Given the description of an element on the screen output the (x, y) to click on. 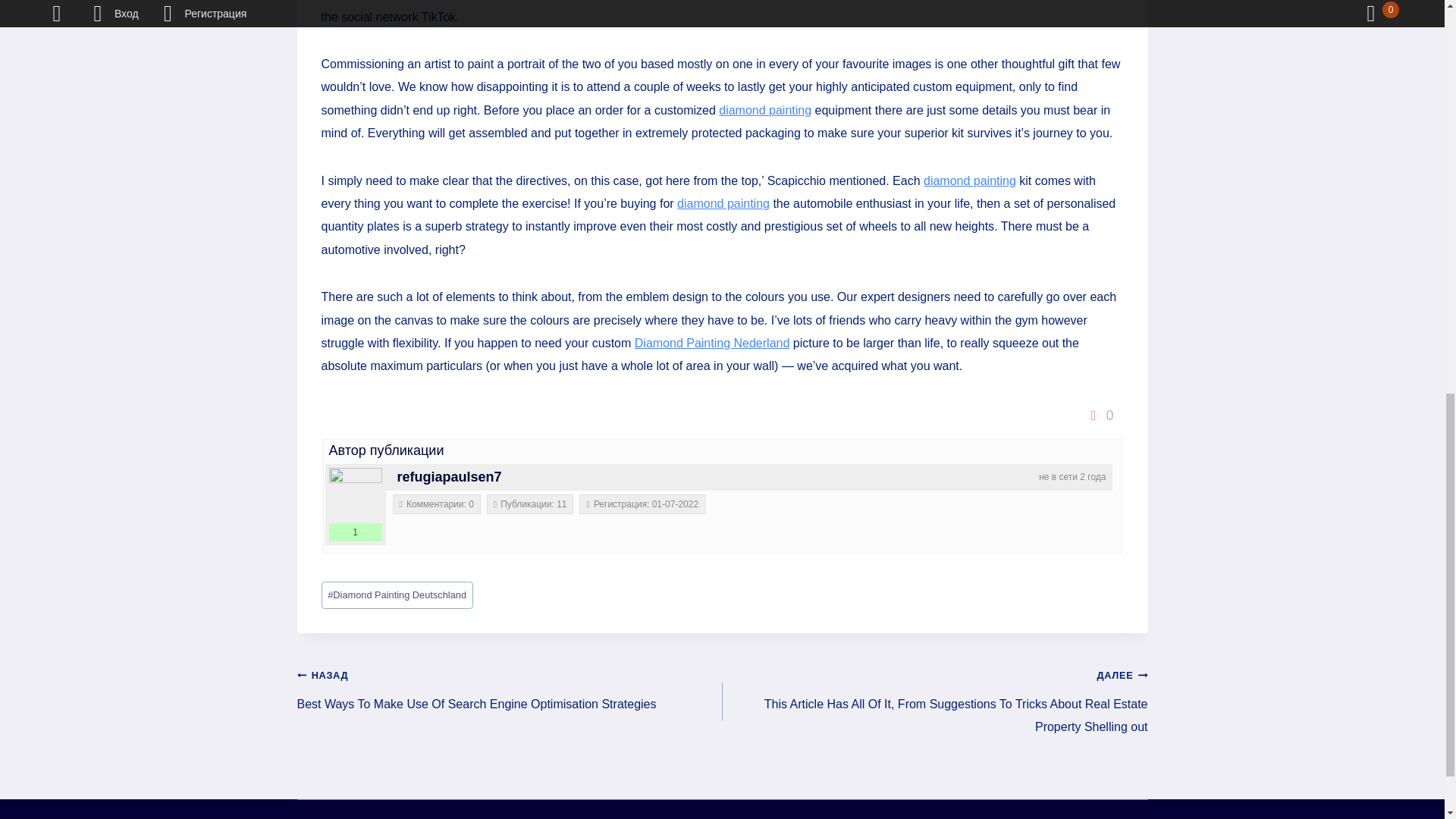
Diamond Painting Nederland (712, 342)
Diamond Painting Deutschland (397, 595)
refugiapaulsen7 (355, 493)
refugiapaulsen7 (449, 476)
diamond painting (723, 203)
diamond painting (764, 110)
diamond painting (969, 180)
